Given the description of an element on the screen output the (x, y) to click on. 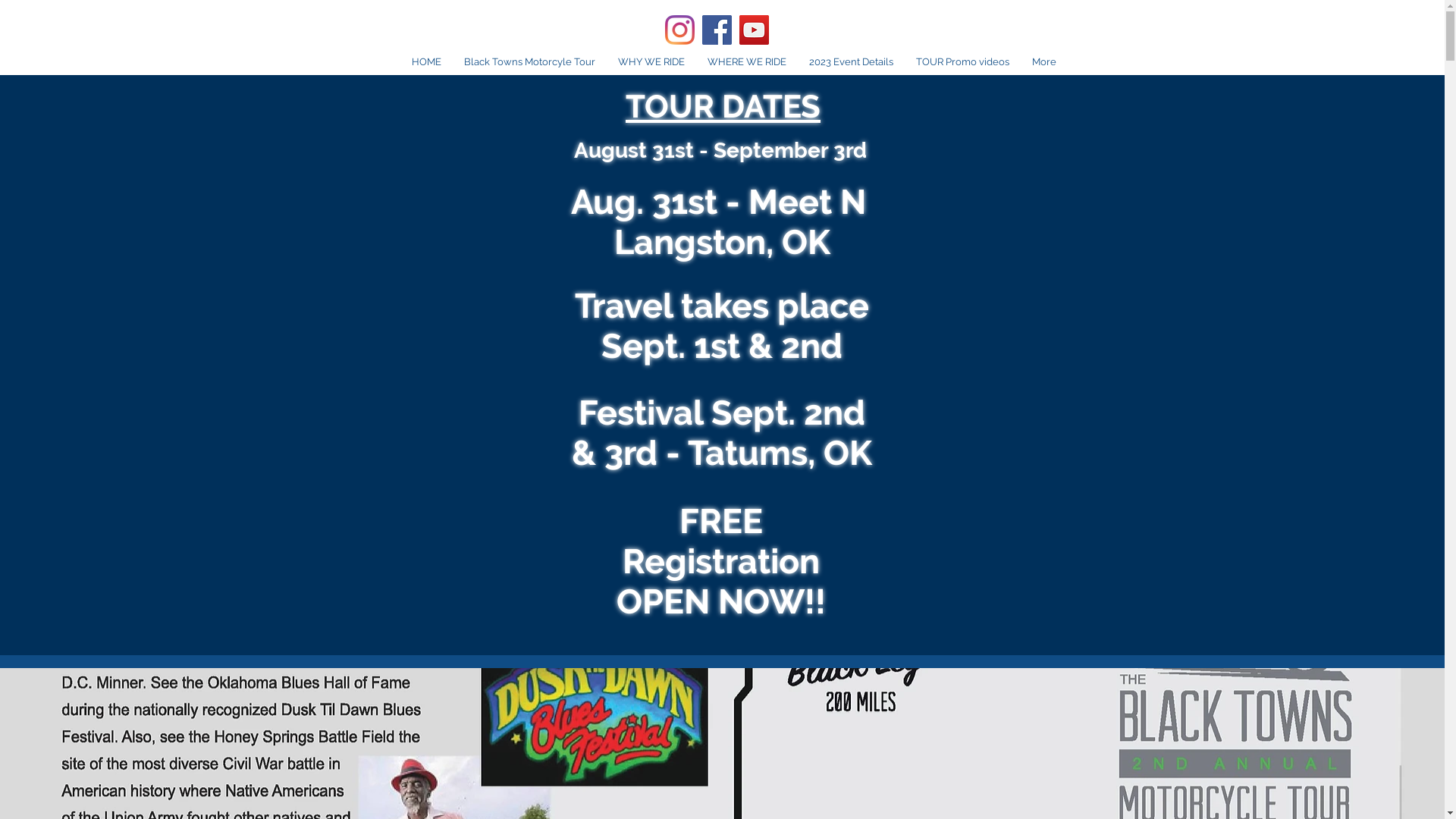
HOME Element type: text (426, 61)
WHY WE RIDE Element type: text (651, 61)
FREE Registration OPEN NOW!! Element type: text (720, 561)
2023 Event Details Element type: text (850, 61)
August 31st - September 3rd Element type: text (720, 150)
Festival Sept. 2nd & 3rd - Tatums, OK Element type: text (721, 432)
Travel takes place Sept. 1st & 2nd Element type: text (721, 325)
TOUR DATES Element type: text (722, 106)
Aug. 31st - Meet N  Langston, OK Element type: text (721, 222)
WHERE WE RIDE Element type: text (746, 61)
Black Towns Motorcyle Tour Element type: text (528, 61)
TOUR Promo videos Element type: text (961, 61)
